Given the description of an element on the screen output the (x, y) to click on. 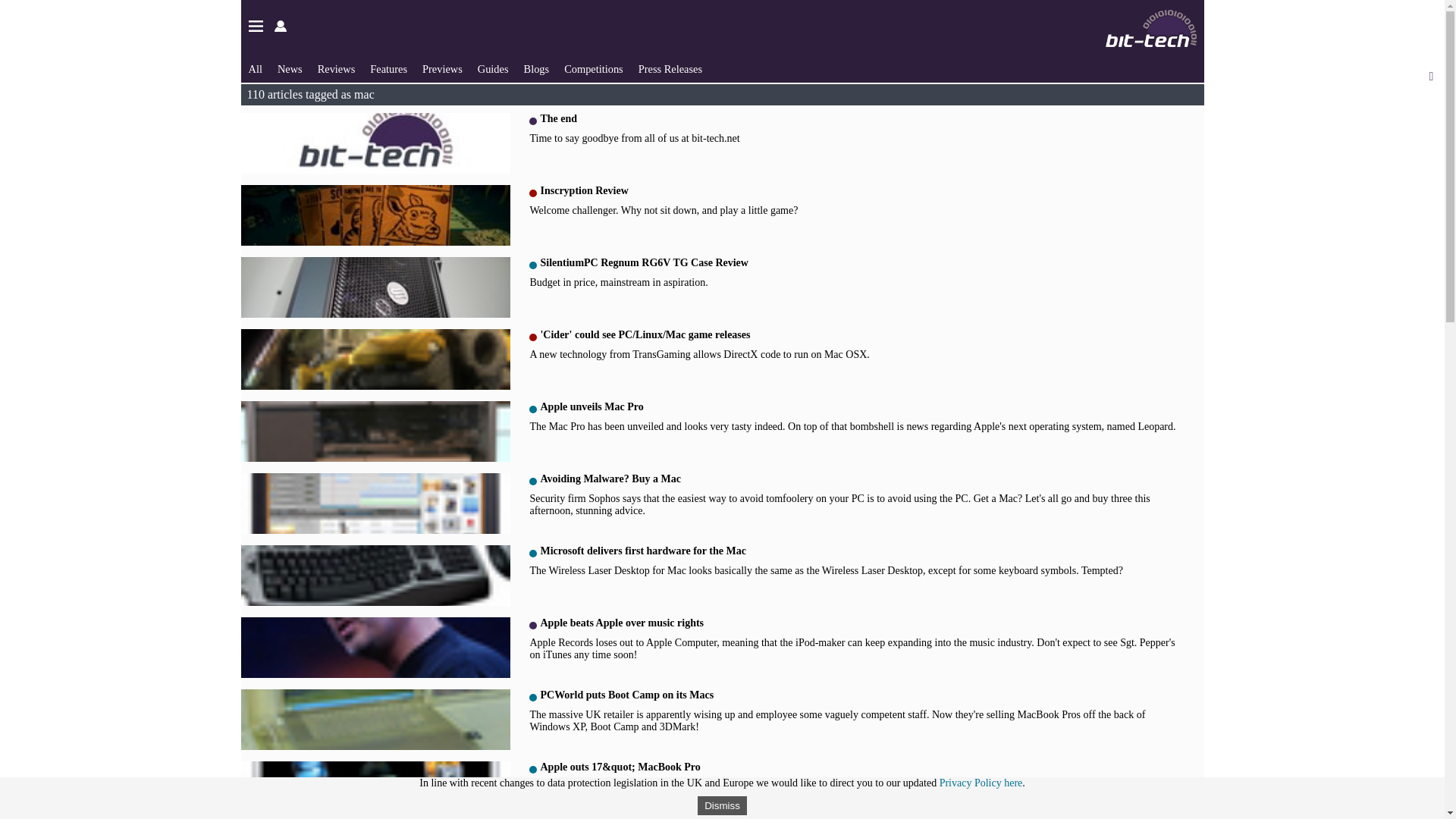
News (290, 69)
Features (388, 69)
Guides (492, 69)
Competitions (866, 140)
Blogs (593, 69)
Press Releases (537, 69)
Reviews (670, 69)
Previews (336, 69)
All (442, 69)
